Given the description of an element on the screen output the (x, y) to click on. 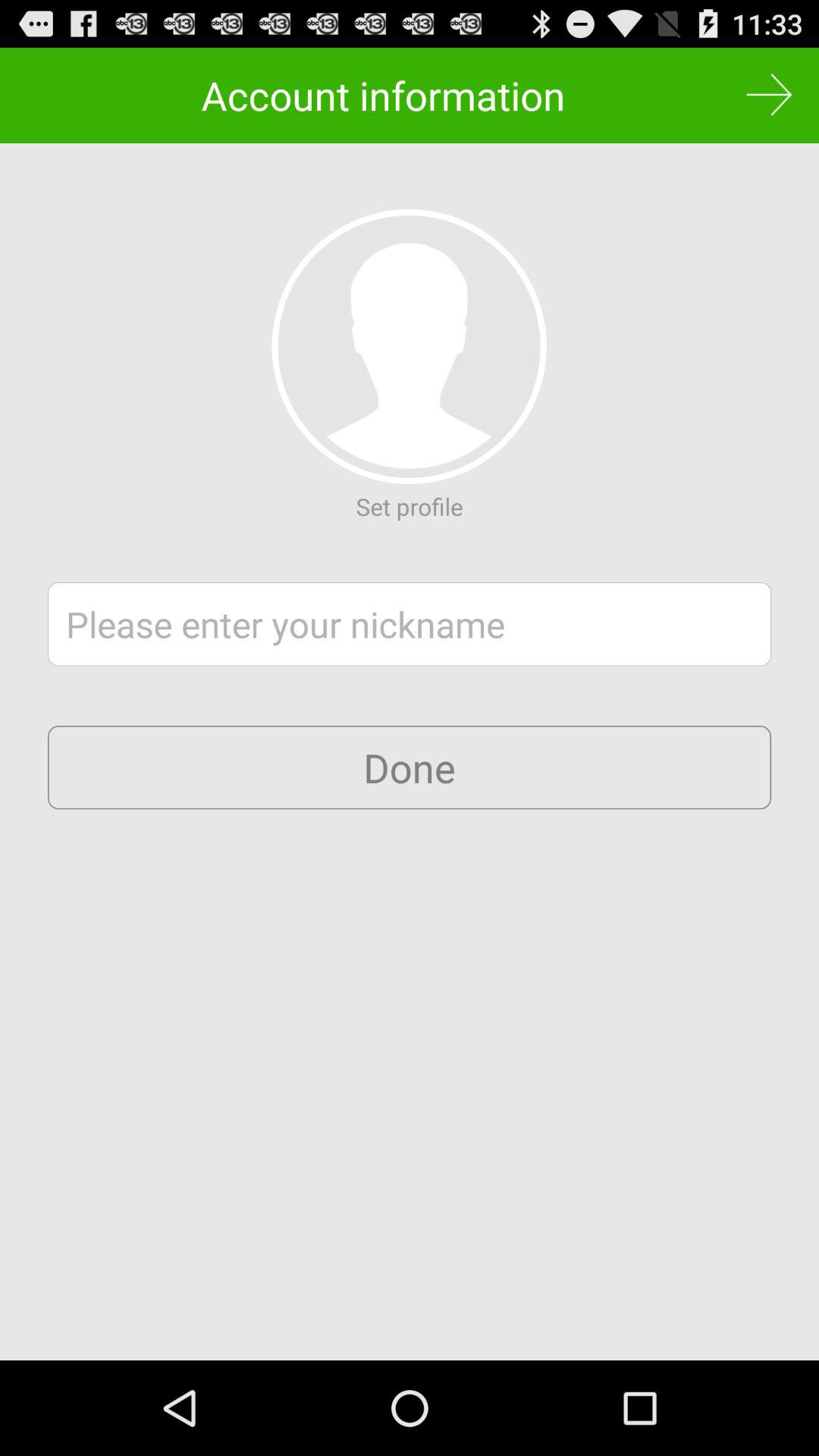
enter a nickname (409, 624)
